Given the description of an element on the screen output the (x, y) to click on. 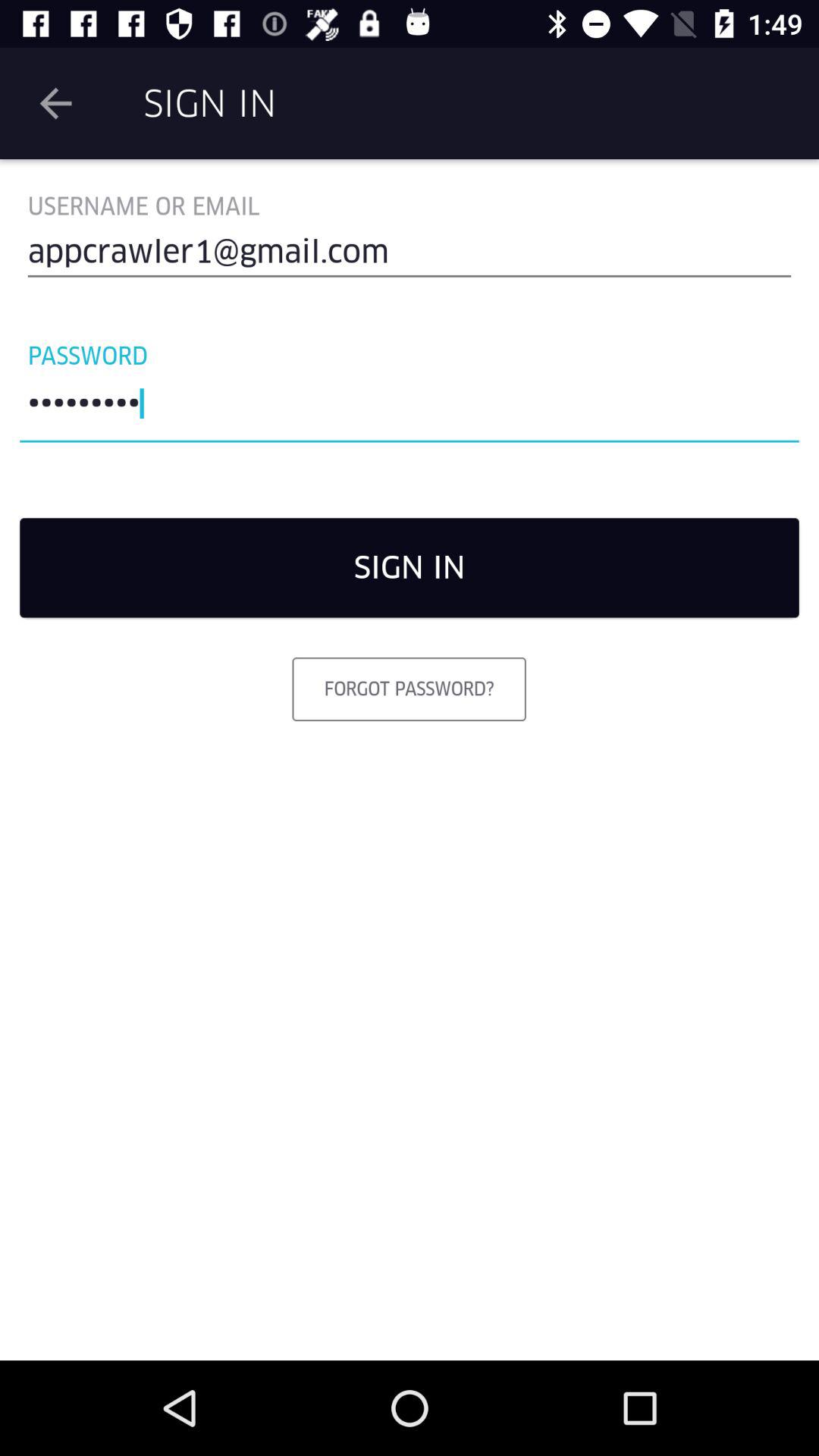
open icon above the username or email item (55, 103)
